Given the description of an element on the screen output the (x, y) to click on. 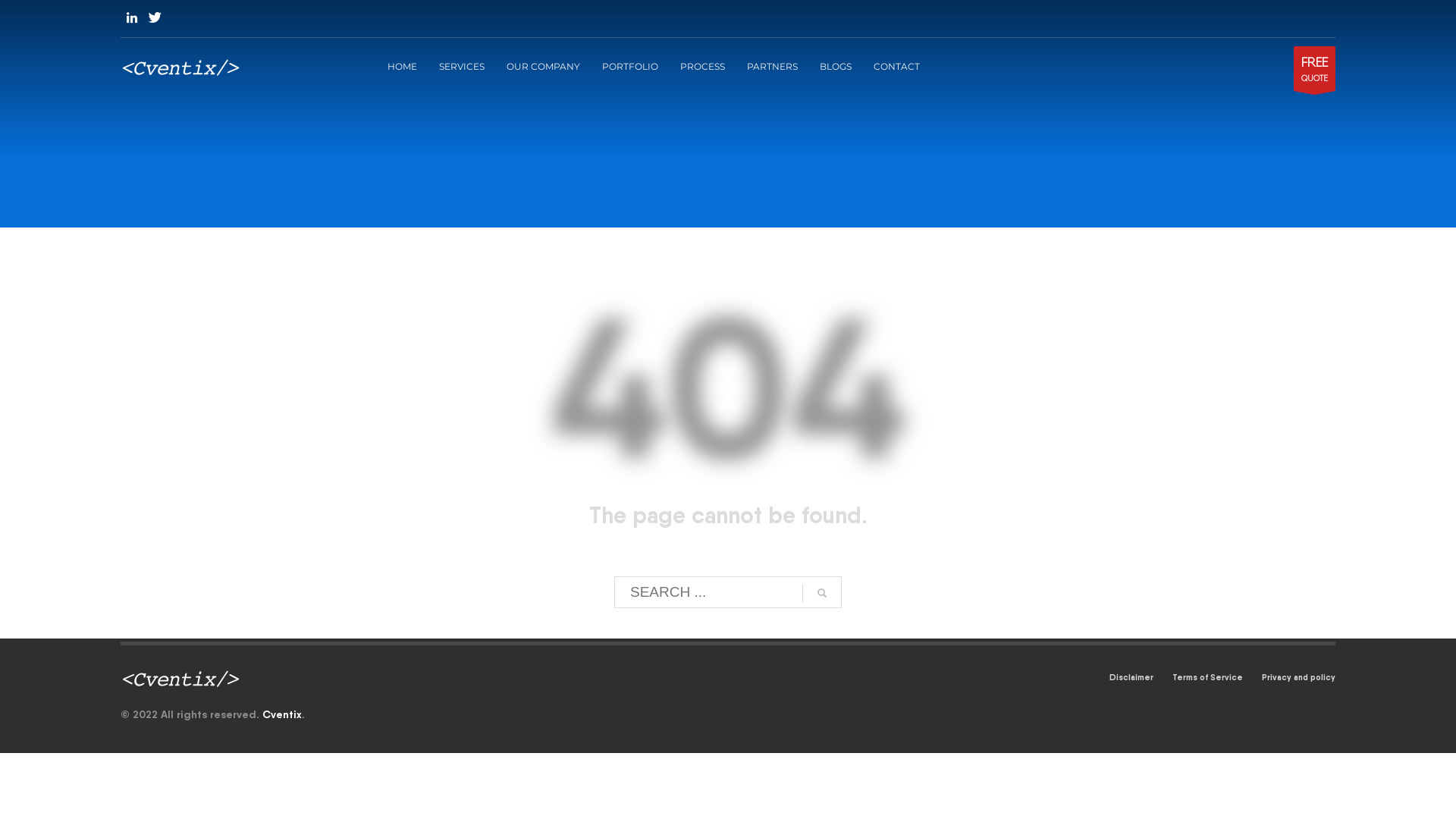
CONTACT Element type: text (896, 65)
go Element type: text (821, 592)
Terms of Service Element type: text (1207, 677)
Twitter Element type: hover (154, 17)
OUR COMPANY Element type: text (543, 65)
PARTNERS Element type: text (771, 65)
PORTFOLIO Element type: text (630, 65)
HOME Element type: text (401, 65)
FREE
QUOTE Element type: text (1314, 67)
BLOGS Element type: text (834, 65)
Just another WordPress site Element type: hover (180, 67)
Privacy and policy Element type: text (1298, 677)
Linkedin Element type: hover (131, 17)
SERVICES Element type: text (460, 65)
Cventix Element type: text (281, 714)
PROCESS Element type: text (701, 65)
Disclaimer Element type: text (1131, 677)
